Given the description of an element on the screen output the (x, y) to click on. 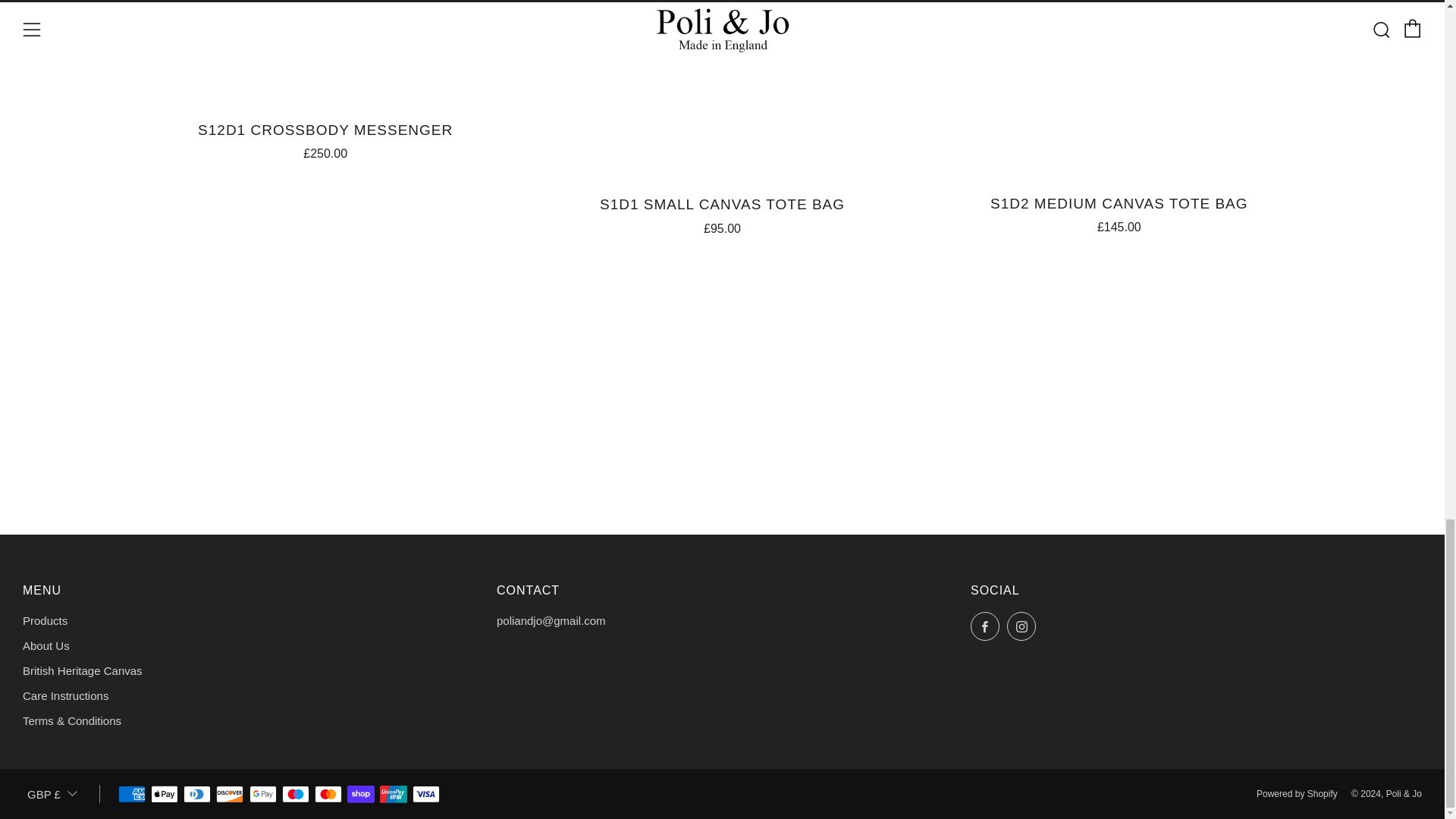
S1D1 SMALL CANVAS TOTE BAG (721, 212)
S1D2 MEDIUM CANVAS TOTE BAG (1118, 211)
S12D1 CROSSBODY MESSENGER (325, 138)
